Given the description of an element on the screen output the (x, y) to click on. 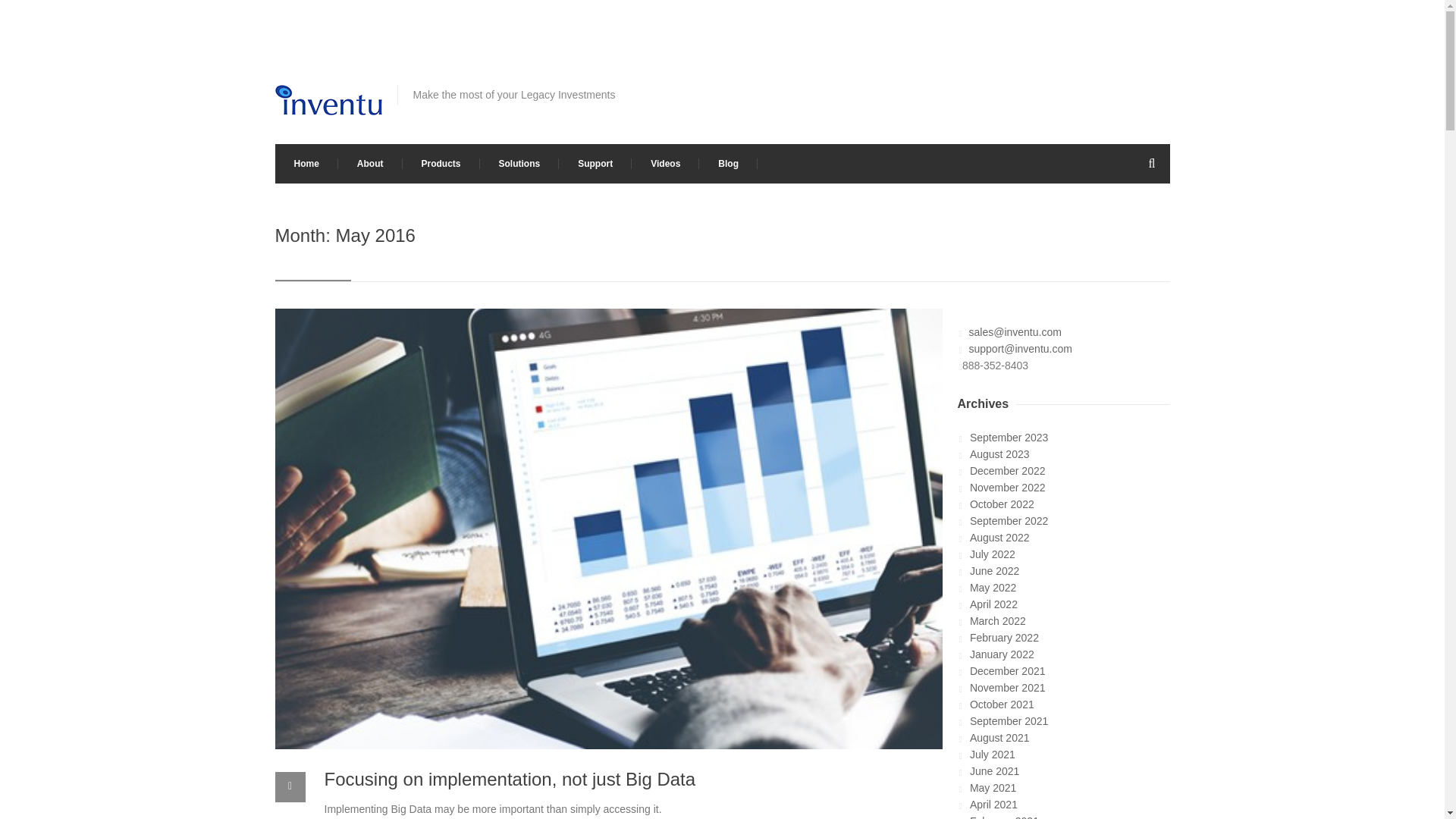
Videos (664, 163)
Inventu.com Home Page (306, 163)
About (370, 163)
Support (595, 163)
About Inventu (370, 163)
Solutions (519, 163)
Inventu Product Information (440, 163)
Focusing on implementation, not just Big Data (509, 779)
Home (306, 163)
Products (440, 163)
Blog (727, 163)
Permalink to Focusing on implementation, not just Big Data (509, 779)
